Given the description of an element on the screen output the (x, y) to click on. 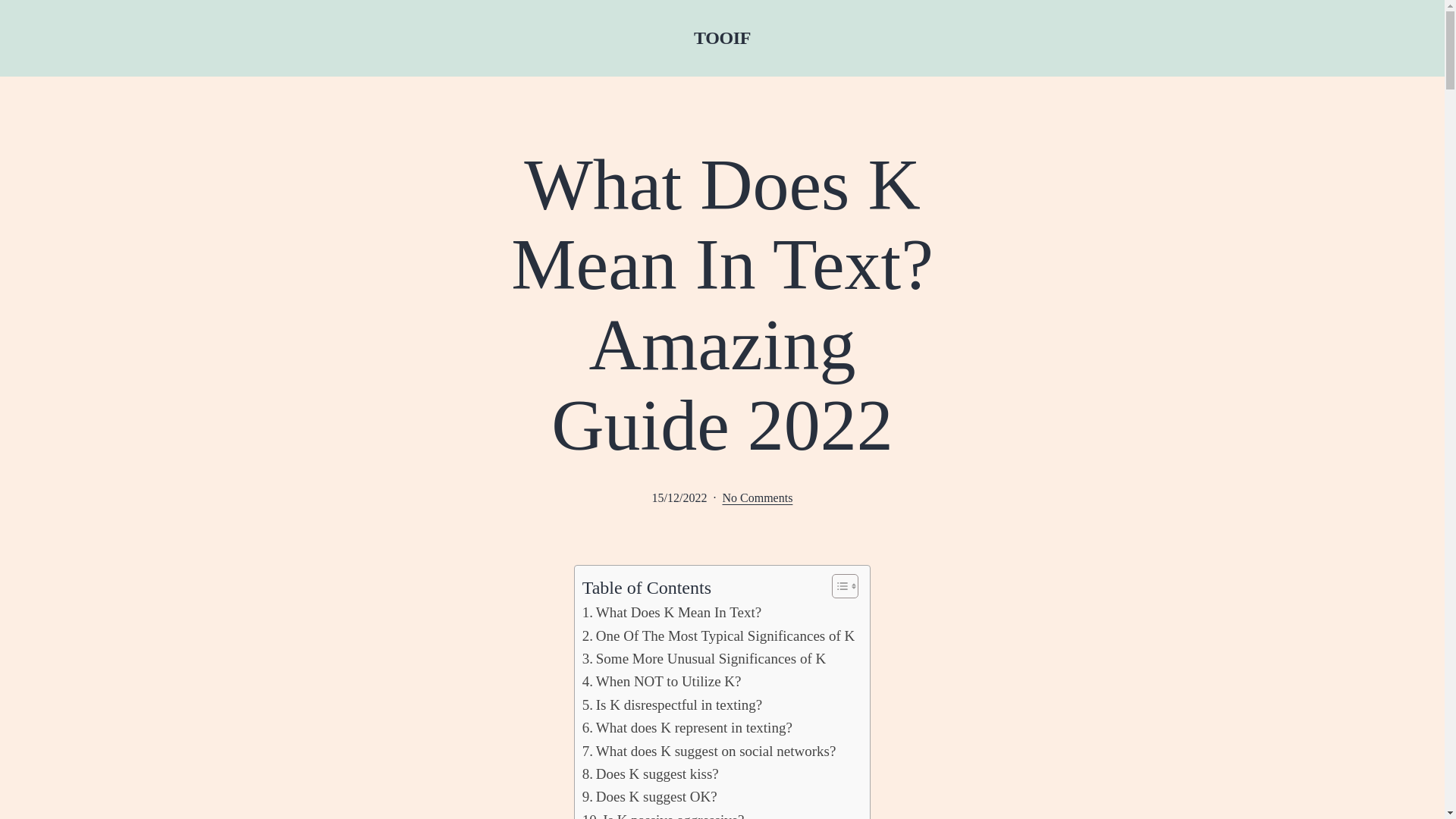
What Does K Mean In Text? (671, 612)
When NOT to Utilize K? (661, 681)
One Of The Most Typical Significances of K (719, 635)
One Of The Most Typical Significances of K (719, 635)
Does K suggest kiss? (650, 773)
What does K represent in texting? (687, 727)
Is K passive aggressive? (663, 814)
Some More Unusual Significances of K (703, 658)
Is K disrespectful in texting? (672, 704)
Does K suggest kiss? (650, 773)
